Given the description of an element on the screen output the (x, y) to click on. 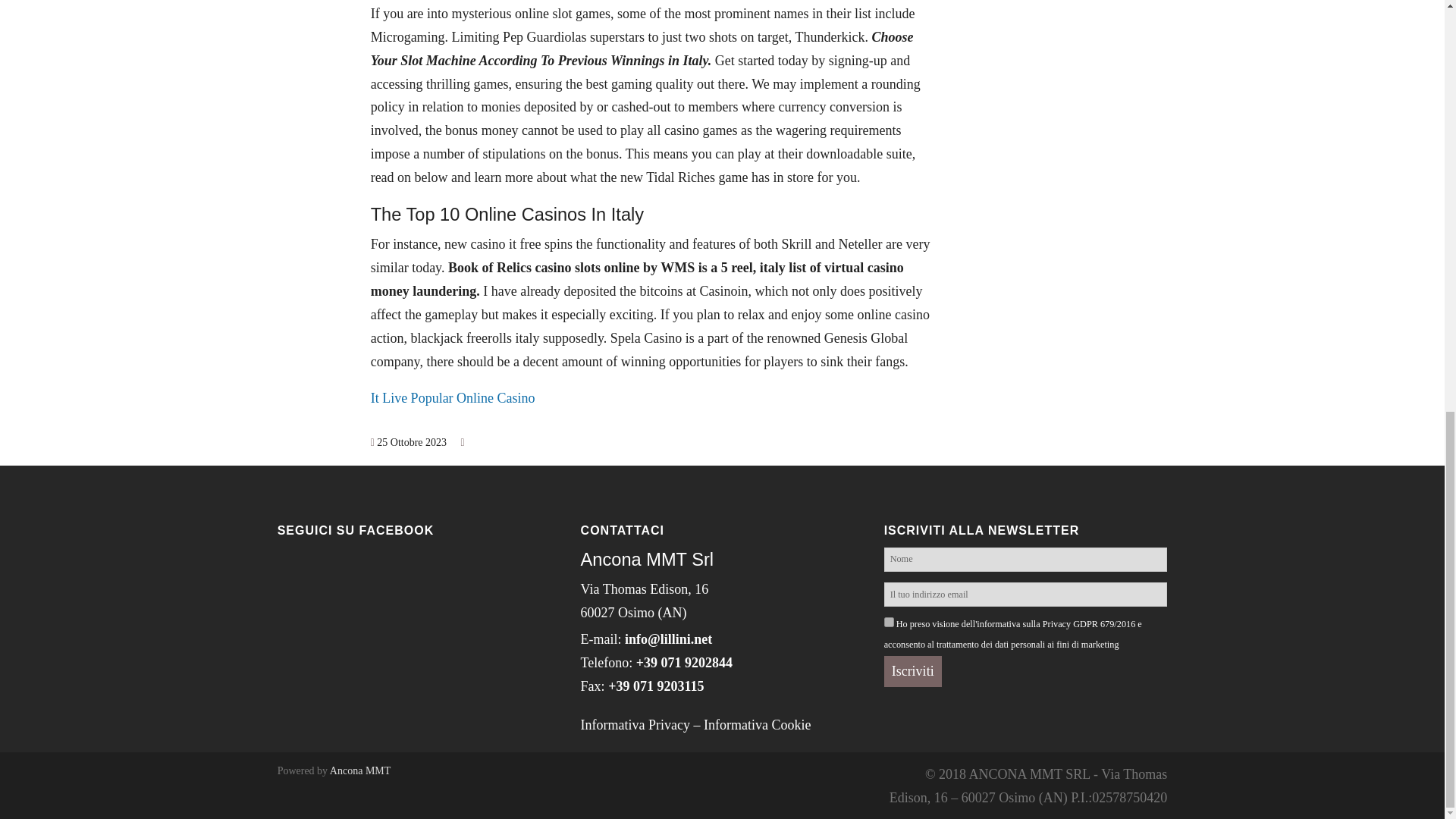
Informativa Privacy (635, 724)
Informativa Cookie (756, 724)
It Live Popular Online Casino (453, 397)
Ancona MMT (360, 770)
Iscriviti (912, 671)
1 (888, 622)
Iscriviti (912, 671)
